Given the description of an element on the screen output the (x, y) to click on. 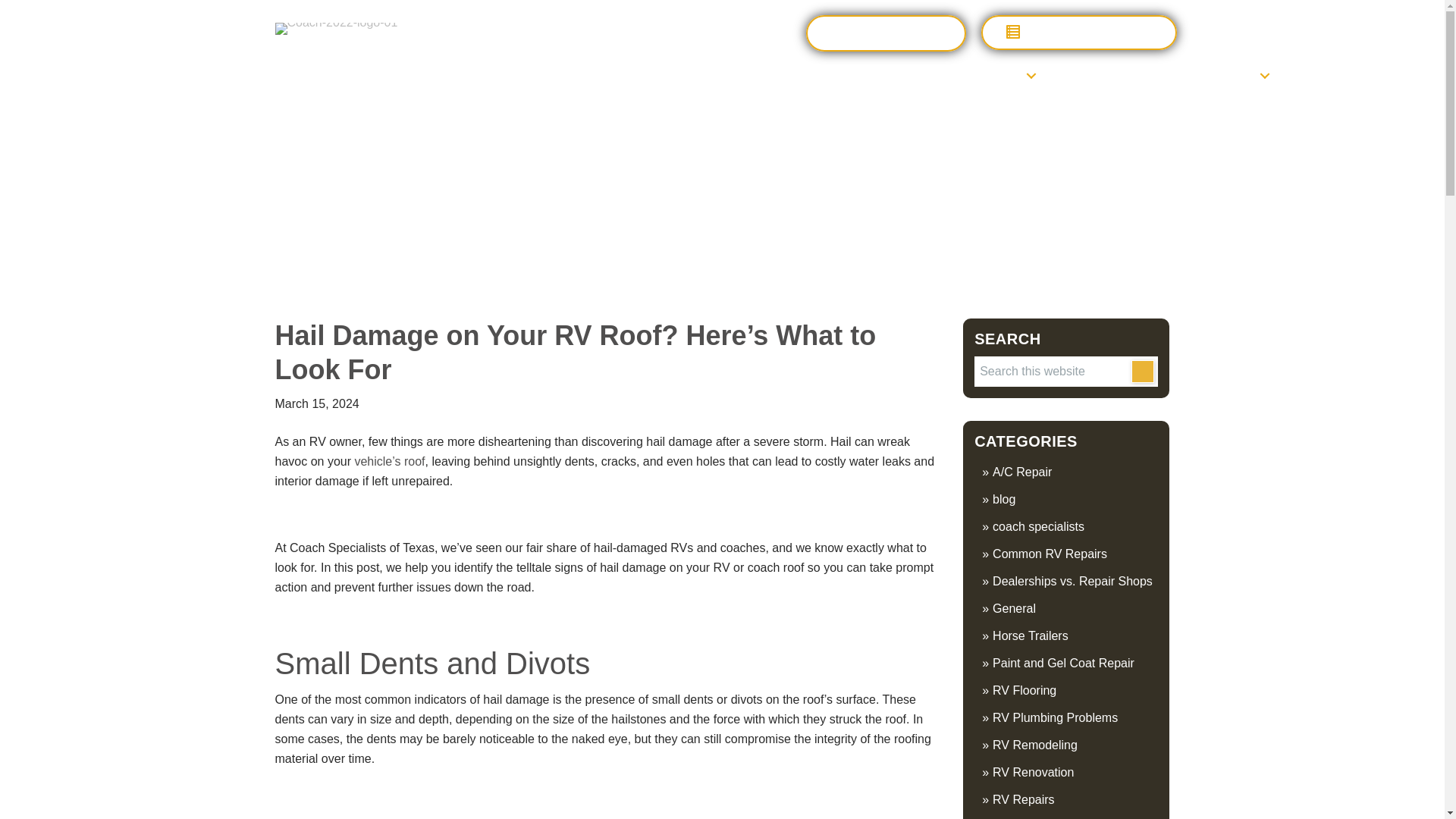
Search (1142, 371)
ABOUT US (1224, 75)
AUTHORIZATION (1078, 32)
Search (1142, 371)
SERVICES (991, 75)
BLOG (1305, 75)
CONTACT US (886, 33)
Coach-2022-logo-01 (336, 28)
Search (1142, 371)
